Given the description of an element on the screen output the (x, y) to click on. 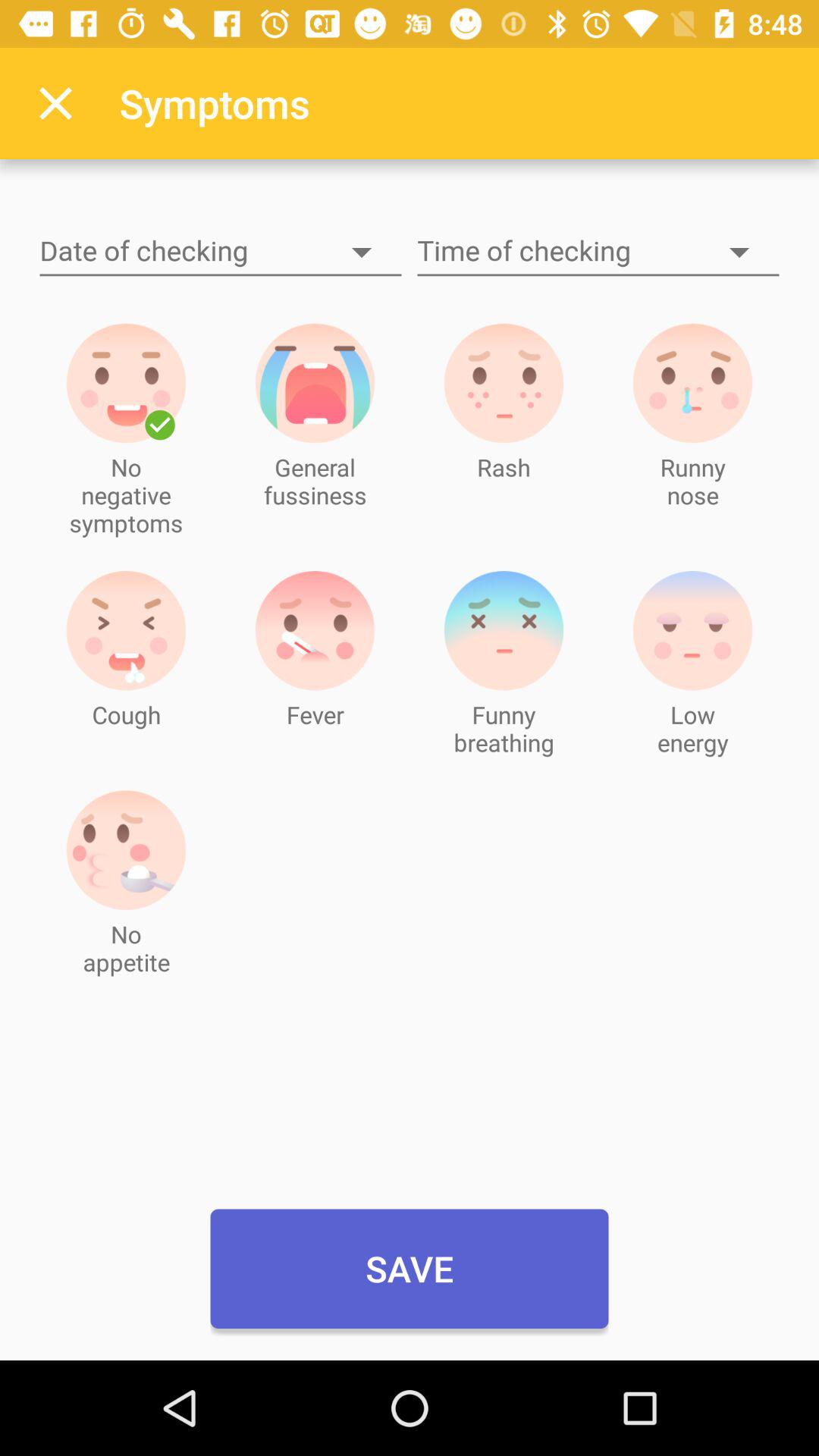
select the time (598, 251)
